Given the description of an element on the screen output the (x, y) to click on. 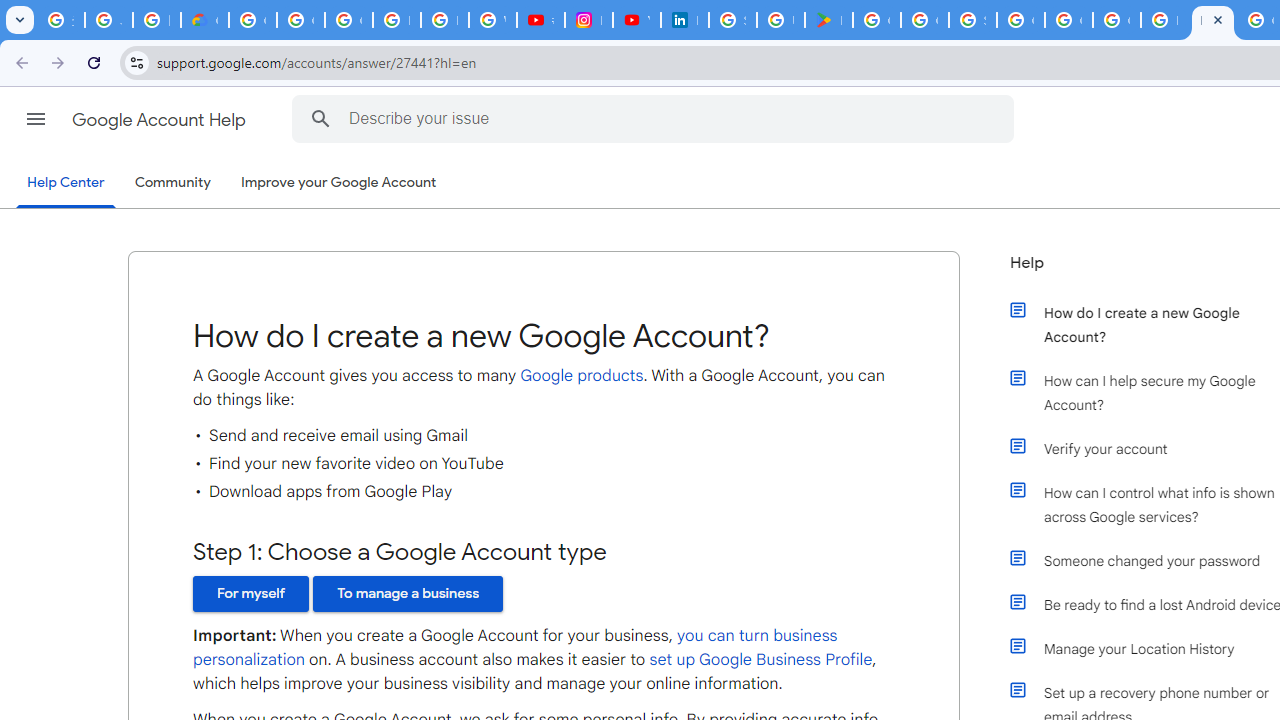
#nbabasketballhighlights - YouTube (540, 20)
Google products (581, 375)
Google Cloud Platform (1020, 20)
To manage a business (408, 594)
Community (171, 183)
Sign in - Google Accounts (972, 20)
Google Account Help (160, 119)
Last Shelter: Survival - Apps on Google Play (828, 20)
